Given the description of an element on the screen output the (x, y) to click on. 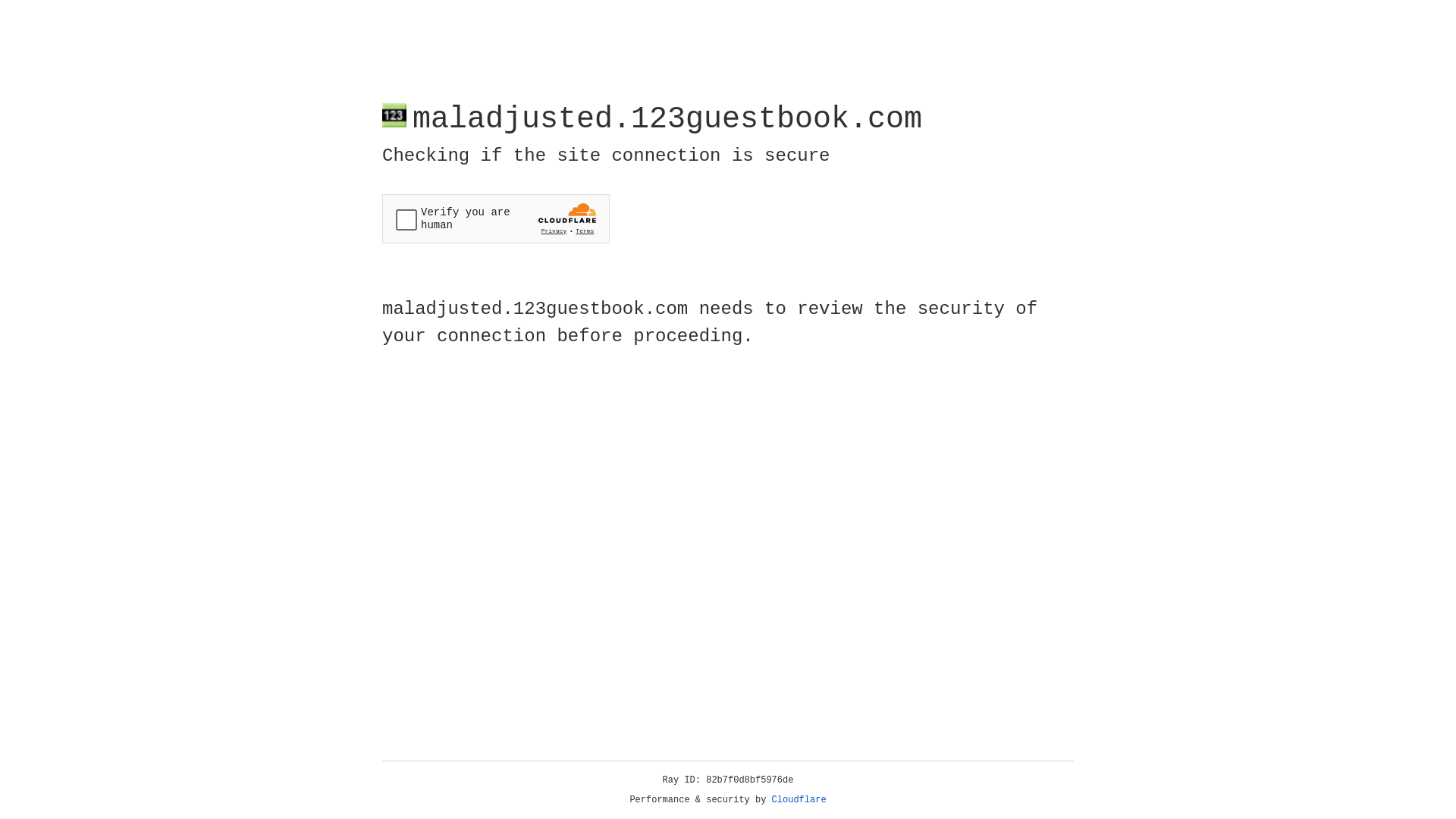
Cloudflare Element type: text (798, 799)
Widget containing a Cloudflare security challenge Element type: hover (495, 218)
